Given the description of an element on the screen output the (x, y) to click on. 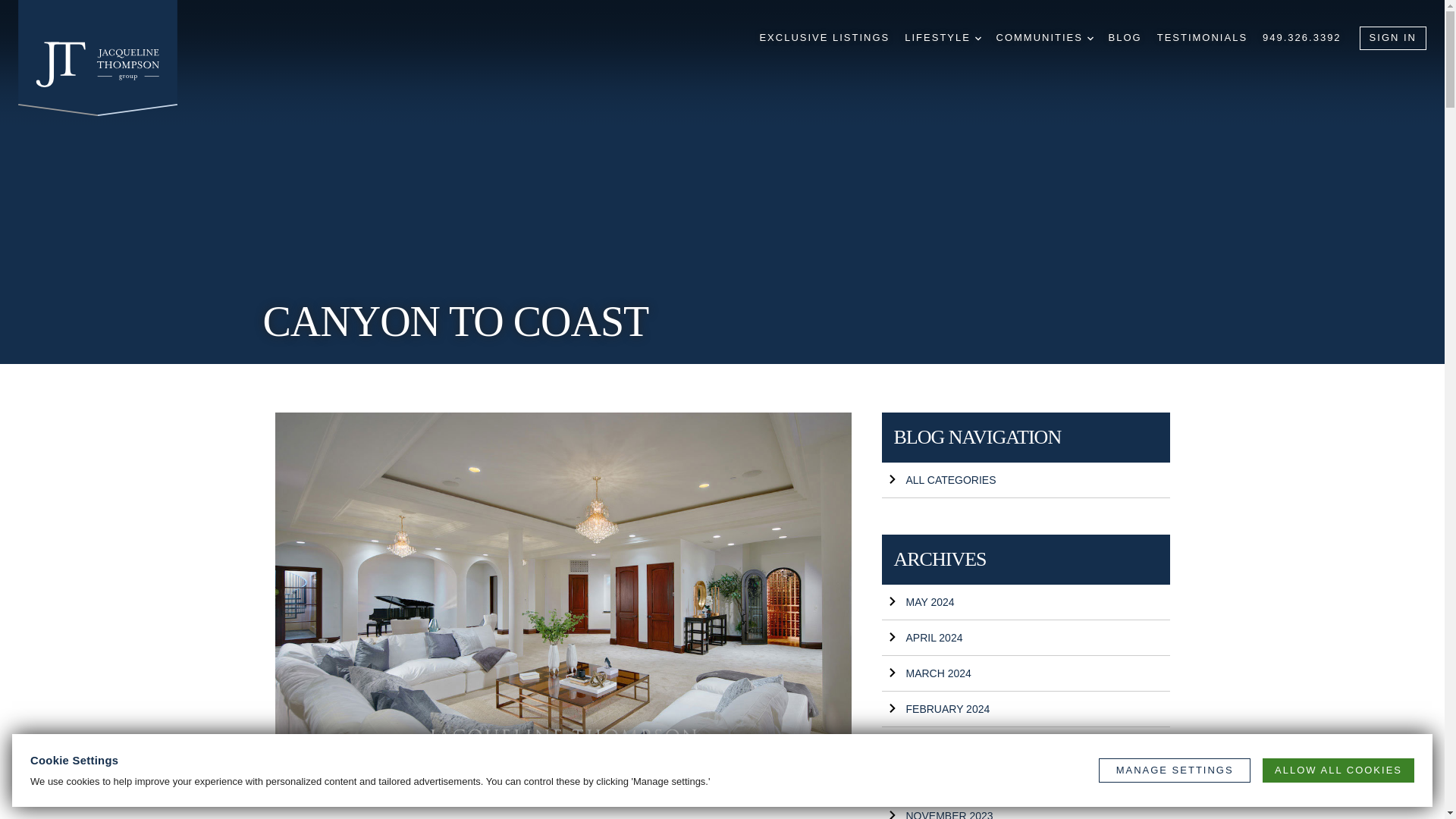
TESTIMONIALS (1202, 37)
SIGN IN (1392, 37)
DROPDOWN ARROW (1090, 38)
DROPDOWN ARROW (978, 38)
LIFESTYLE DROPDOWN ARROW (941, 37)
COMMUNITIES DROPDOWN ARROW (1044, 37)
BLOG (1124, 37)
949.326.3392 (1301, 37)
EXCLUSIVE LISTINGS (823, 37)
